Given the description of an element on the screen output the (x, y) to click on. 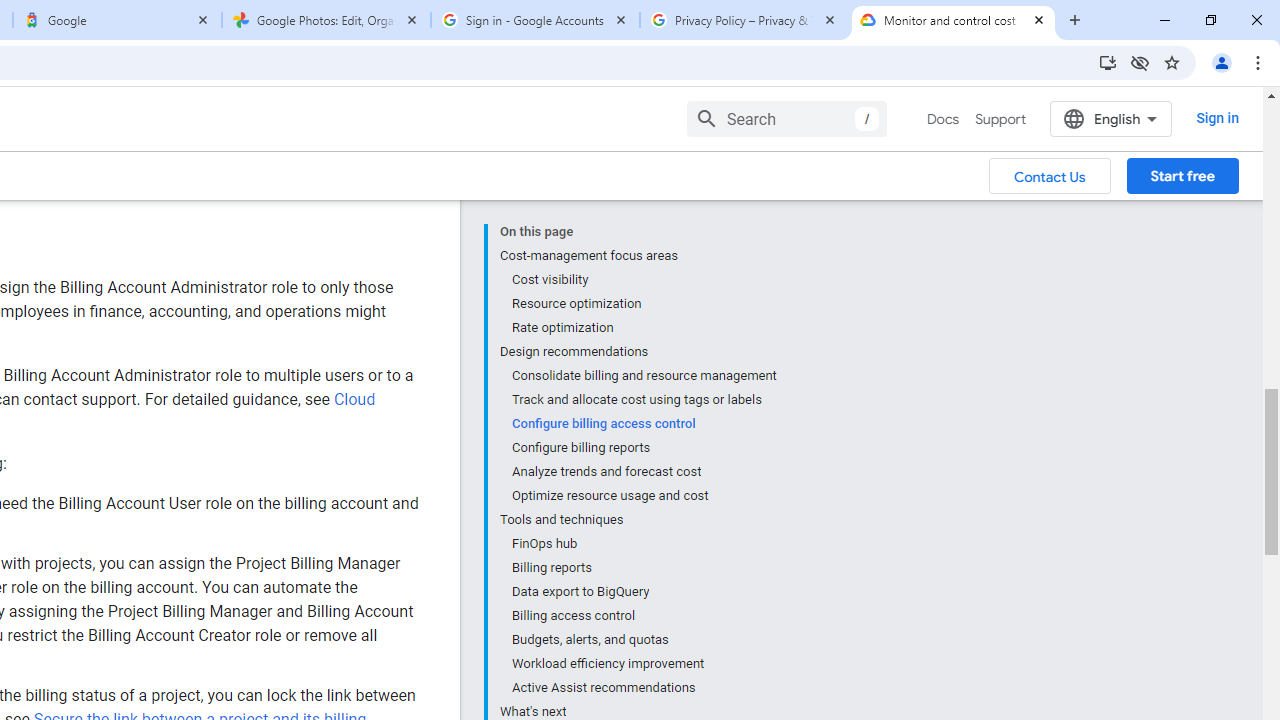
Install Google Cloud (1107, 62)
Google (116, 20)
FinOps hub (643, 543)
Tools and techniques (637, 520)
Billing access control (643, 615)
Design recommendations (637, 351)
Resource optimization (643, 304)
